Given the description of an element on the screen output the (x, y) to click on. 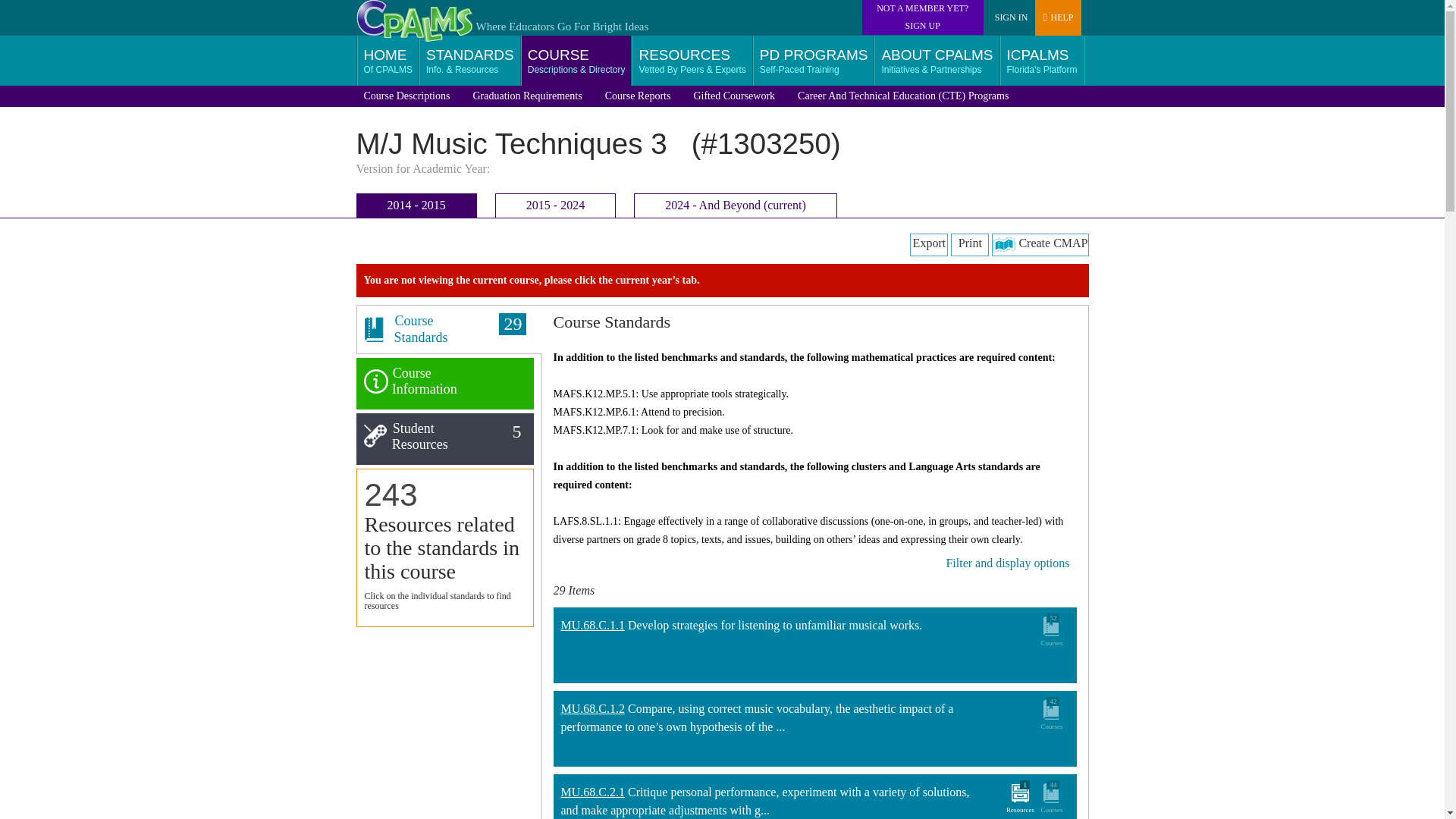
Print (969, 244)
Create CMAP (1039, 244)
Export (928, 244)
